Given the description of an element on the screen output the (x, y) to click on. 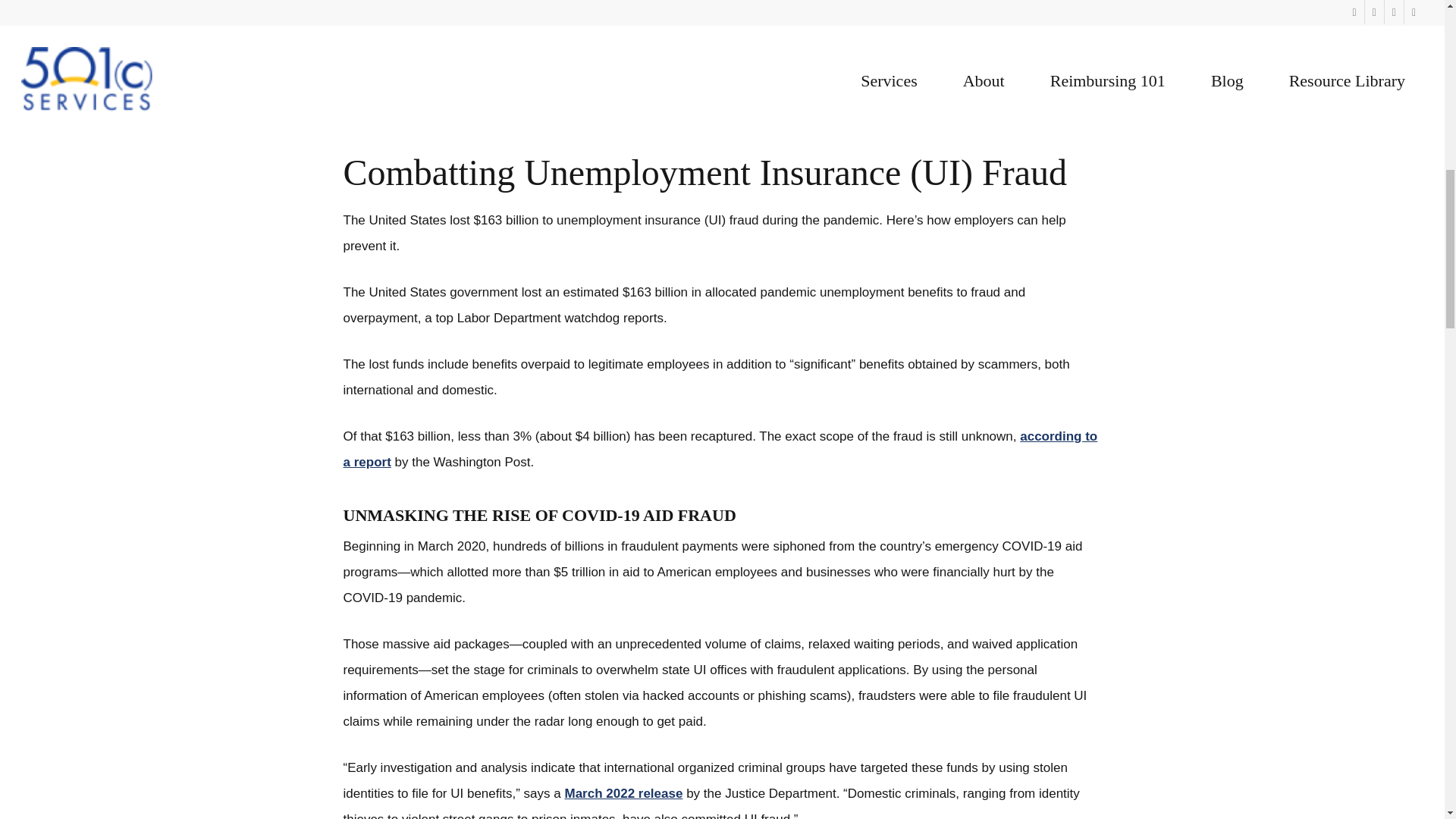
according to a report (719, 449)
March 2022 release (623, 793)
